Given the description of an element on the screen output the (x, y) to click on. 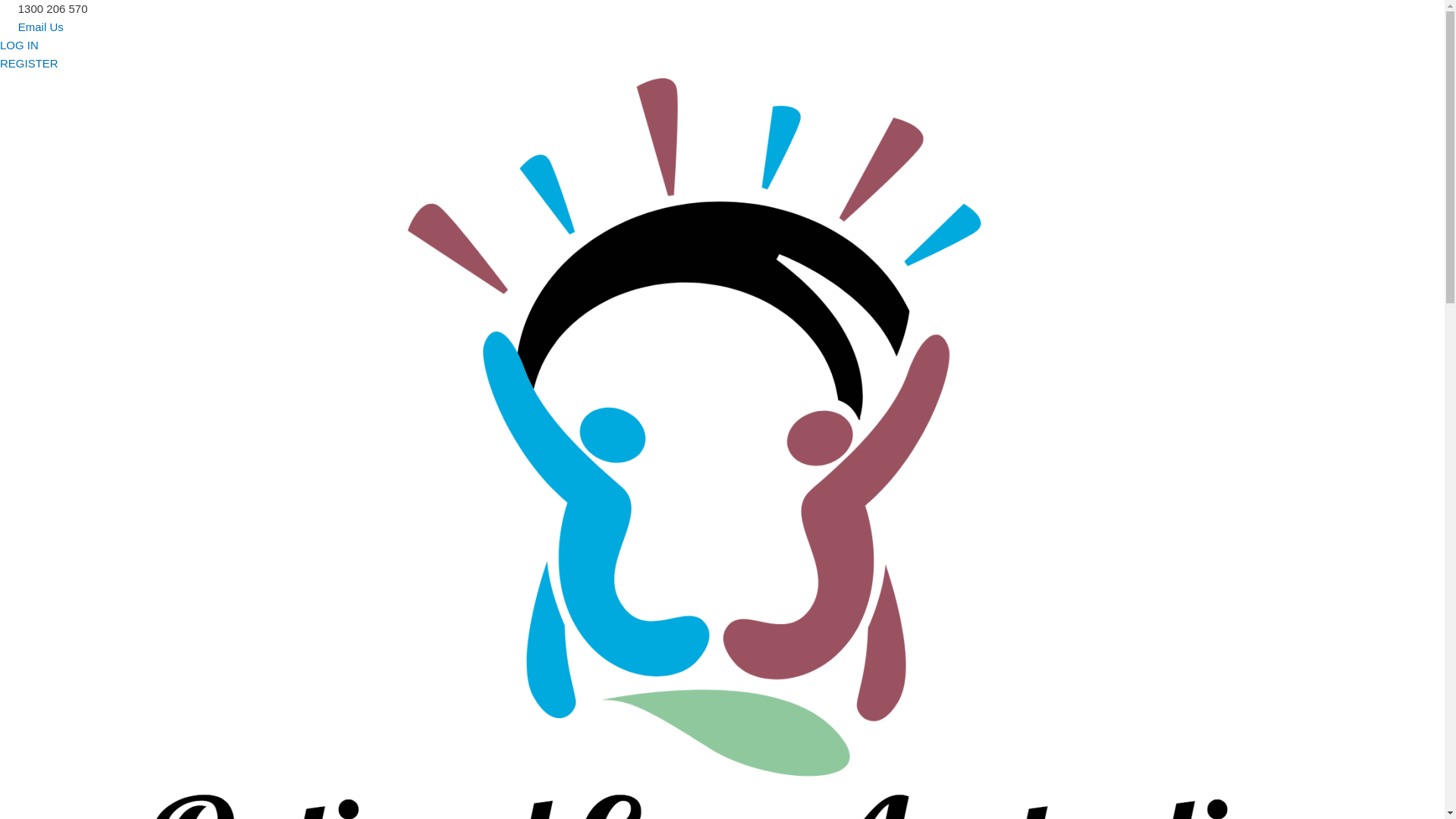
REGISTER Element type: text (29, 62)
LOG IN Element type: text (19, 44)
Email Us Element type: text (722, 27)
1300 206 570 Element type: text (722, 9)
